Given the description of an element on the screen output the (x, y) to click on. 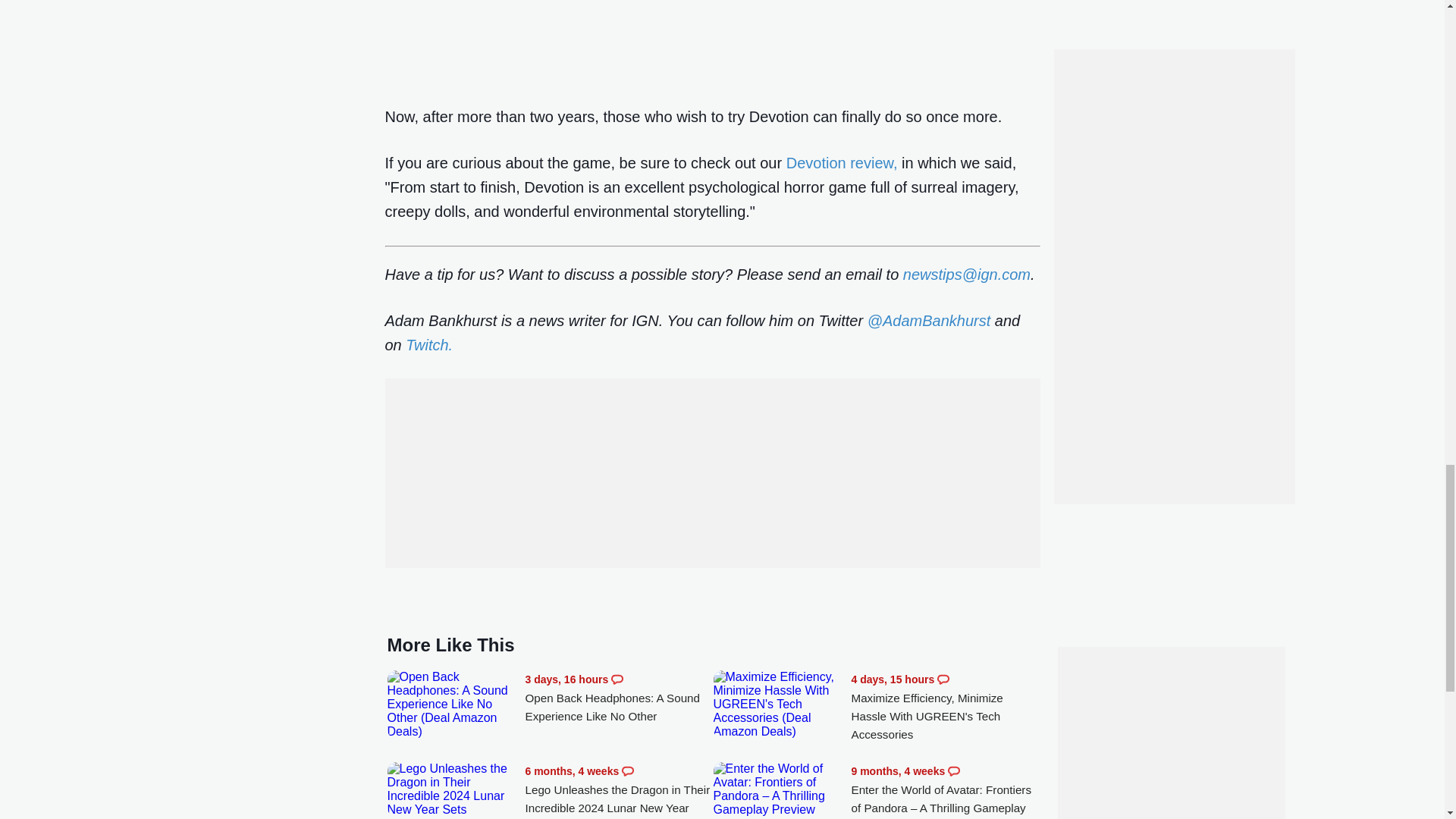
Open Back Headphones: A Sound Experience Like No Other (451, 704)
Comments (953, 770)
Open Back Headphones: A Sound Experience Like No Other (618, 697)
Comments (617, 679)
Comments (943, 679)
Comments (627, 770)
